Given the description of an element on the screen output the (x, y) to click on. 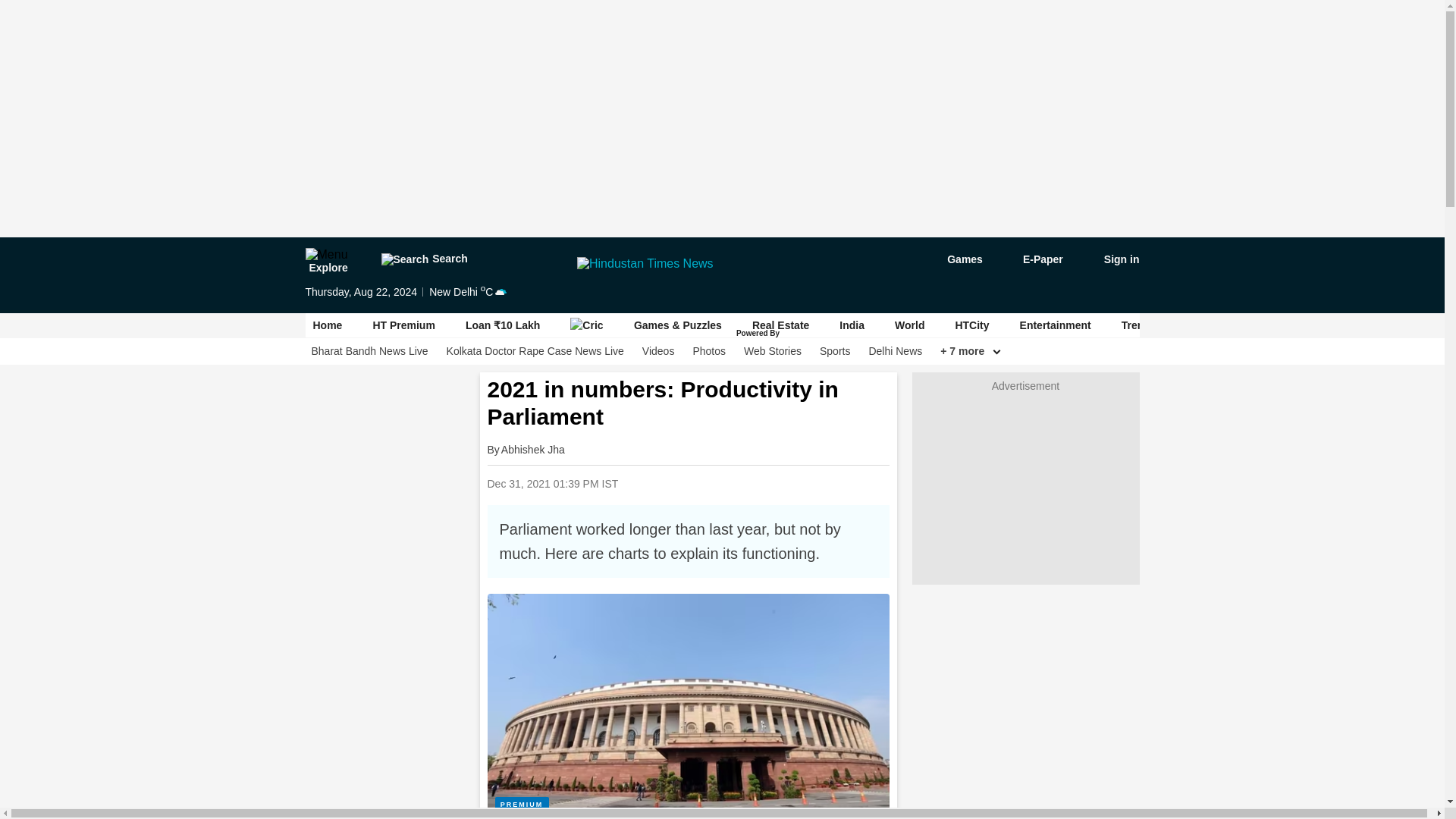
Web Stories (773, 350)
Astrology (1221, 325)
Trending (1143, 325)
game (954, 258)
Search (423, 258)
Kolkata Doctor Rape Case News Live (535, 350)
E-Paper (1034, 258)
HT Premium (402, 325)
Lifestyle (1297, 325)
Education (1374, 325)
